Given the description of an element on the screen output the (x, y) to click on. 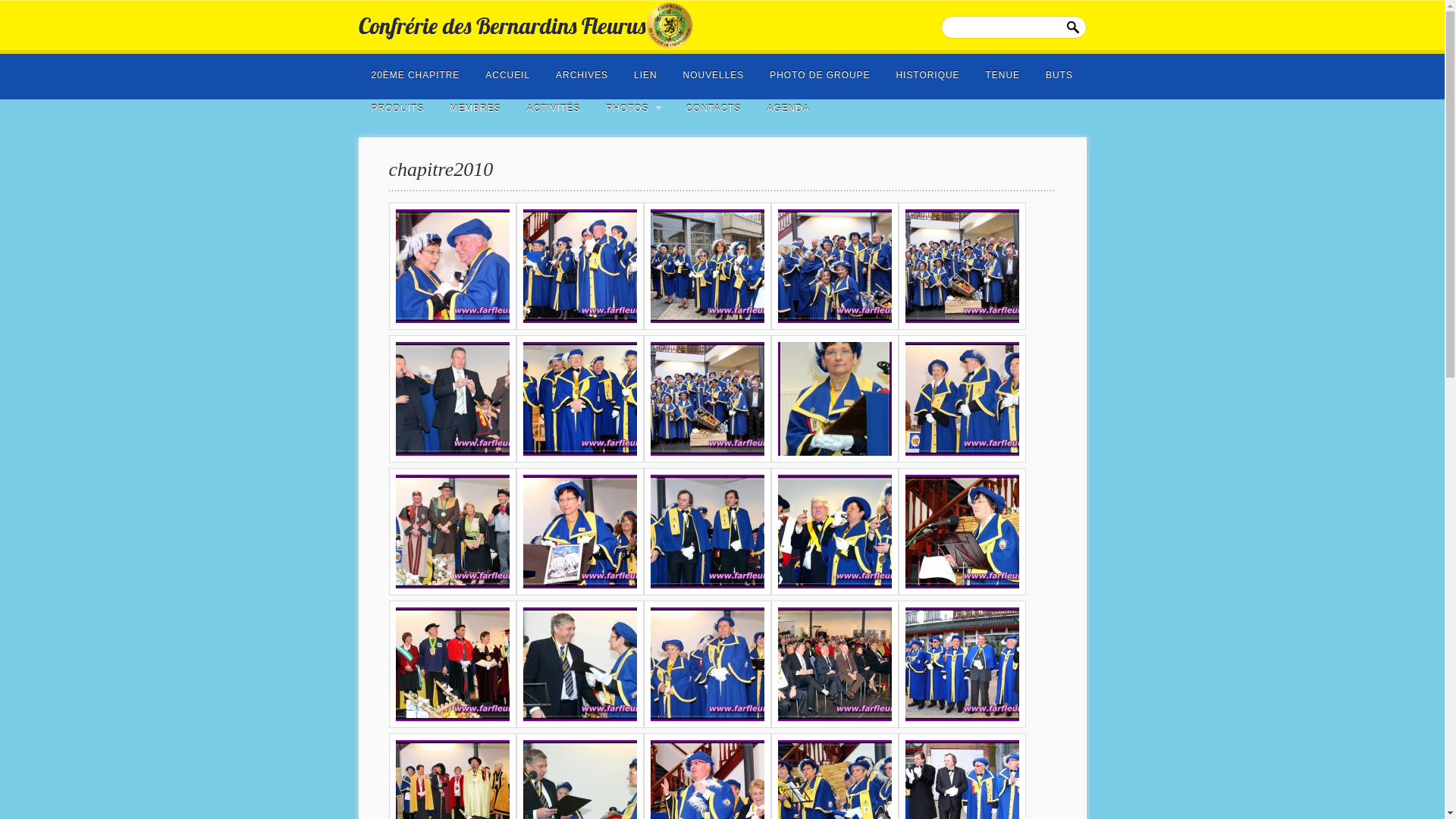
100411a_fl_66_chapitre_confrerie_e5_5217 Element type: hover (579, 664)
100411a_fl_28_chapitre_confrerie_e5_5179 Element type: hover (833, 664)
100411a_fl_49_chapitre_confrerie_e5_5200 Element type: hover (706, 531)
CONTACTS Element type: text (712, 103)
100411a_fl_95_chapitre_confrerie_e5_5246 Element type: hover (706, 398)
100411a_fl_71_chapitre_confrerie_e5_5222 Element type: hover (833, 398)
LIEN Element type: text (645, 70)
MEMBRES Element type: text (474, 103)
100411a_fl_42_chapitre_confrerie_e5_5193 Element type: hover (706, 664)
100411a_fl_86_chapitre_confrerie_e5_5237 Element type: hover (451, 664)
PHOTO DE GROUPE Element type: text (819, 70)
100411a_fl_9_chapitre_confrerie_e5_5160 Element type: hover (961, 531)
chapitre2010 Element type: text (440, 169)
NOUVELLES Element type: text (713, 70)
TENUE Element type: text (1002, 70)
100411a_fl_95_chapitre_confrerie_e5_5246 Element type: hover (961, 265)
100411a_fl_96_chapitre_confrerie_e5_5247 Element type: hover (833, 265)
100411a_fl_89_chapitre_confrerie_e5_5240 Element type: hover (451, 531)
100411a_fl_67_chapitre_confrerie_e5_5218 Element type: hover (579, 531)
ACCUEIL Element type: text (507, 70)
100411a_fl_11_chapitre_confrerie_e5_5162 Element type: hover (579, 398)
ARCHIVES Element type: text (581, 70)
Rechercher Element type: text (1075, 24)
100411a_fl_33_chapitre_confrerie_e5_5184 Element type: hover (451, 265)
BUTS Element type: text (1059, 70)
PRODUITS Element type: text (397, 103)
100411a_fl_54_chapitre_confrerie_e5_5205 Element type: hover (451, 398)
100411a_fl_6_chapitre_confrerie_e5_5157 Element type: hover (961, 664)
100411a_fl_4_chapitre_confrerie_e5_5155 Element type: hover (706, 265)
AGENDA Element type: text (787, 103)
100411a_fl_10_chapitre_confrerie_e5_5161 Element type: hover (961, 398)
100411a_fl_13_chapitre_confrerie_e5_5164 Element type: hover (579, 265)
100411a_fl_29_chapitre_confrerie_e5_5180 Element type: hover (833, 531)
HISTORIQUE Element type: text (927, 70)
